Given the description of an element on the screen output the (x, y) to click on. 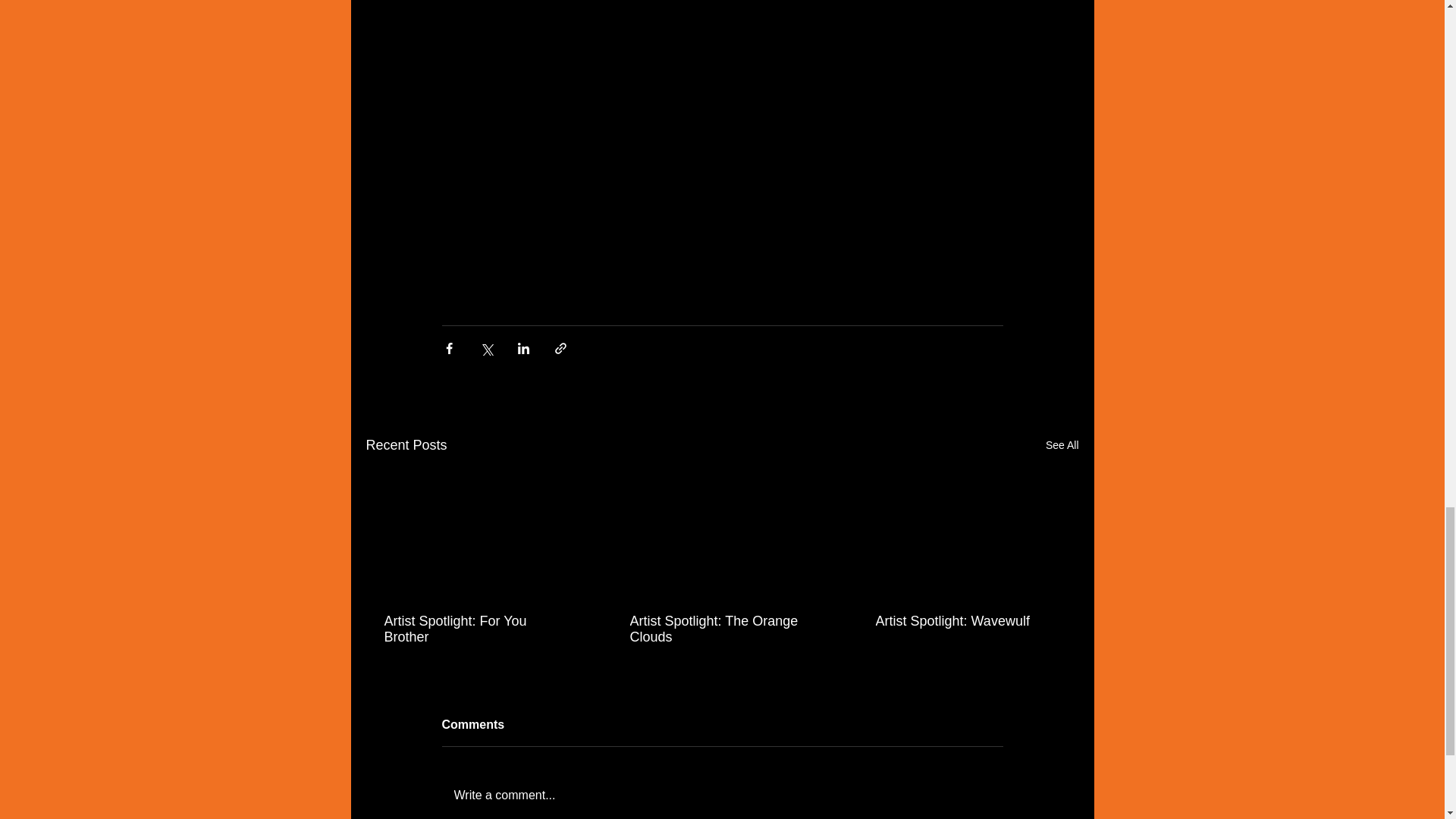
Artist Spotlight: The Orange Clouds (720, 629)
Artist Spotlight: Wavewulf (966, 621)
Write a comment... (722, 794)
Artist Spotlight: For You Brother (475, 629)
See All (1061, 445)
